Given the description of an element on the screen output the (x, y) to click on. 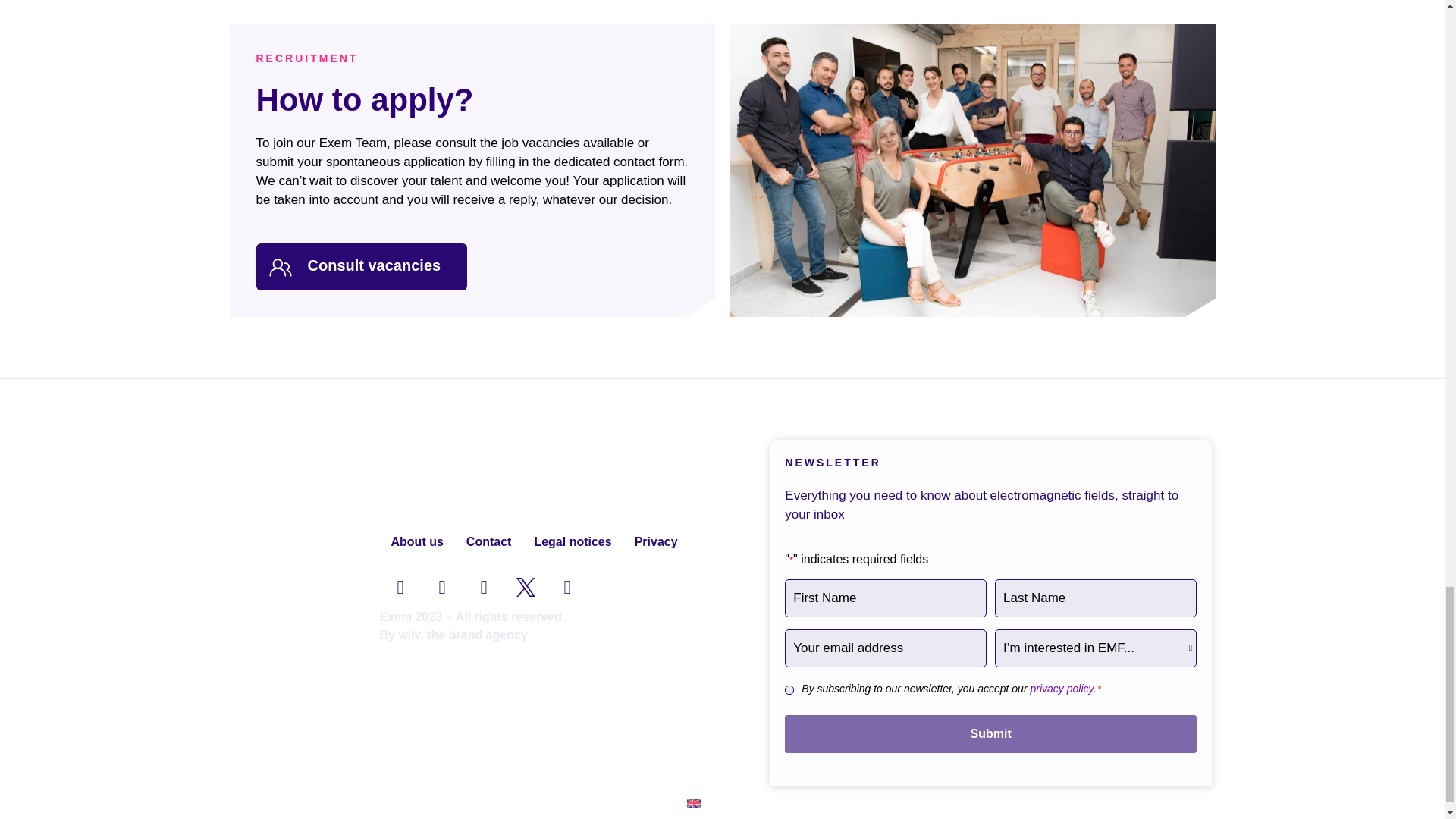
Submit (990, 733)
